Given the description of an element on the screen output the (x, y) to click on. 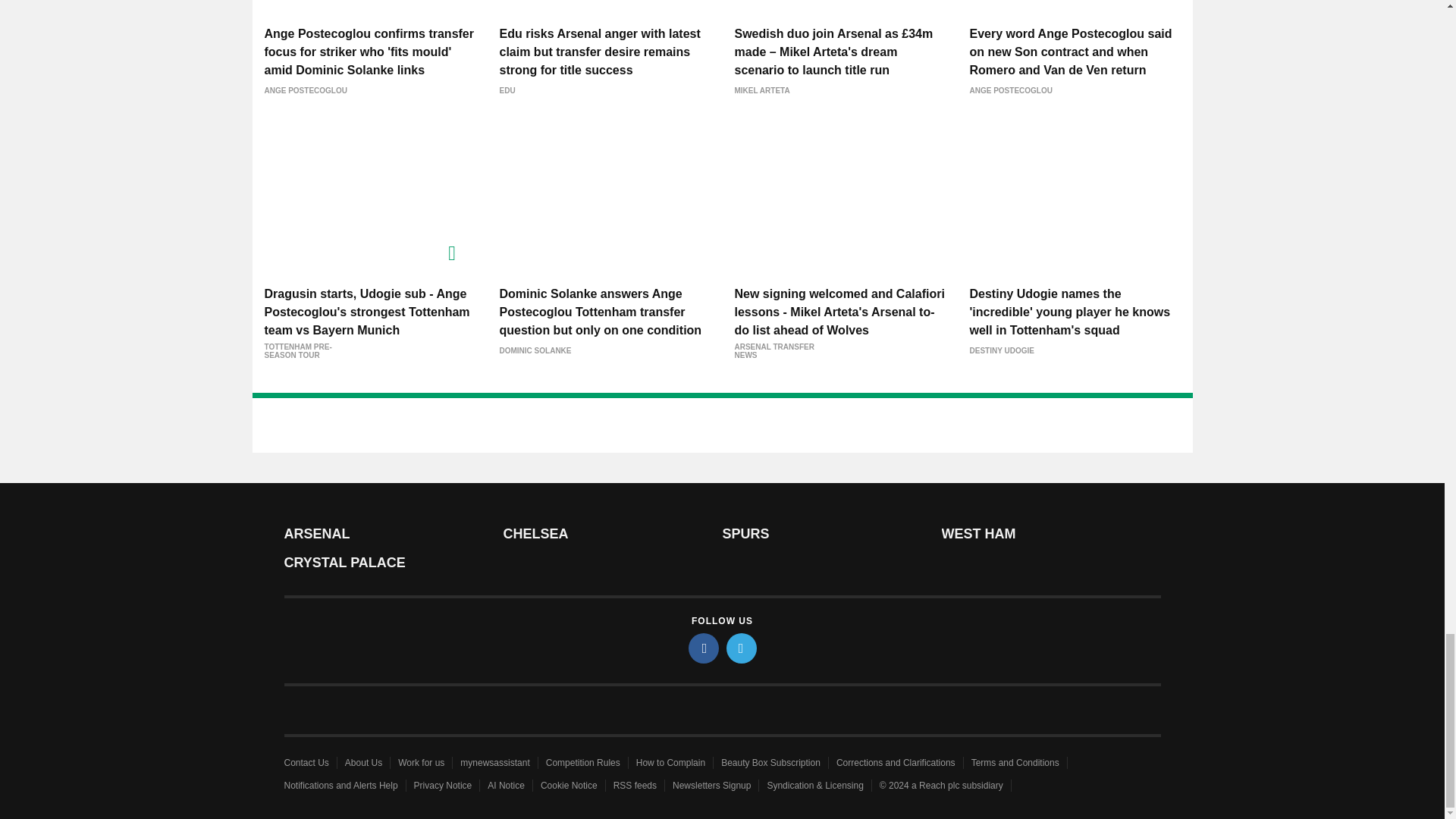
facebook (703, 648)
twitter (741, 648)
